Given the description of an element on the screen output the (x, y) to click on. 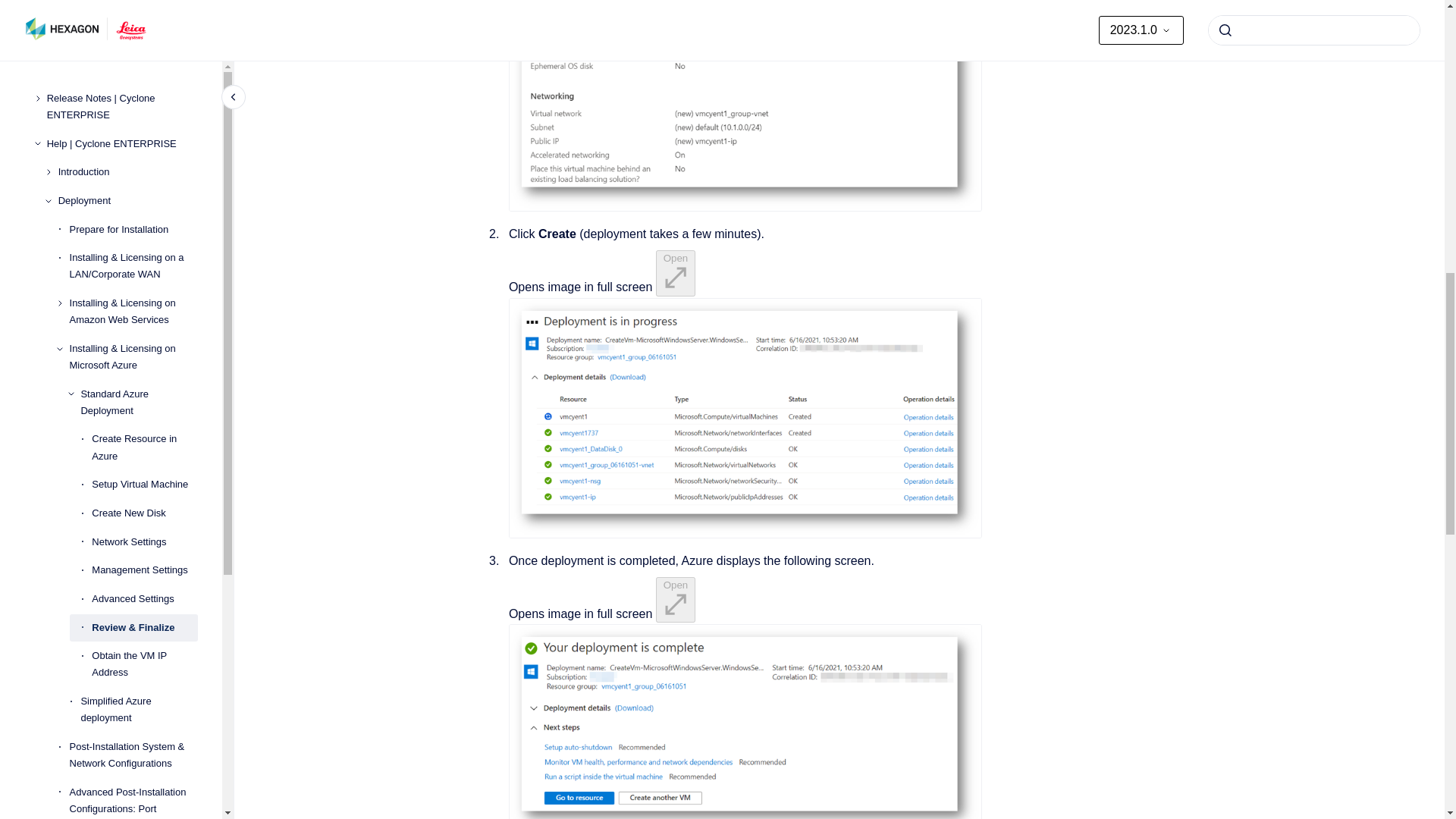
Uninstalling Cyclone ENTERPRISE (133, 135)
Server Administration (128, 200)
Launch and Login Guide (128, 171)
